Given the description of an element on the screen output the (x, y) to click on. 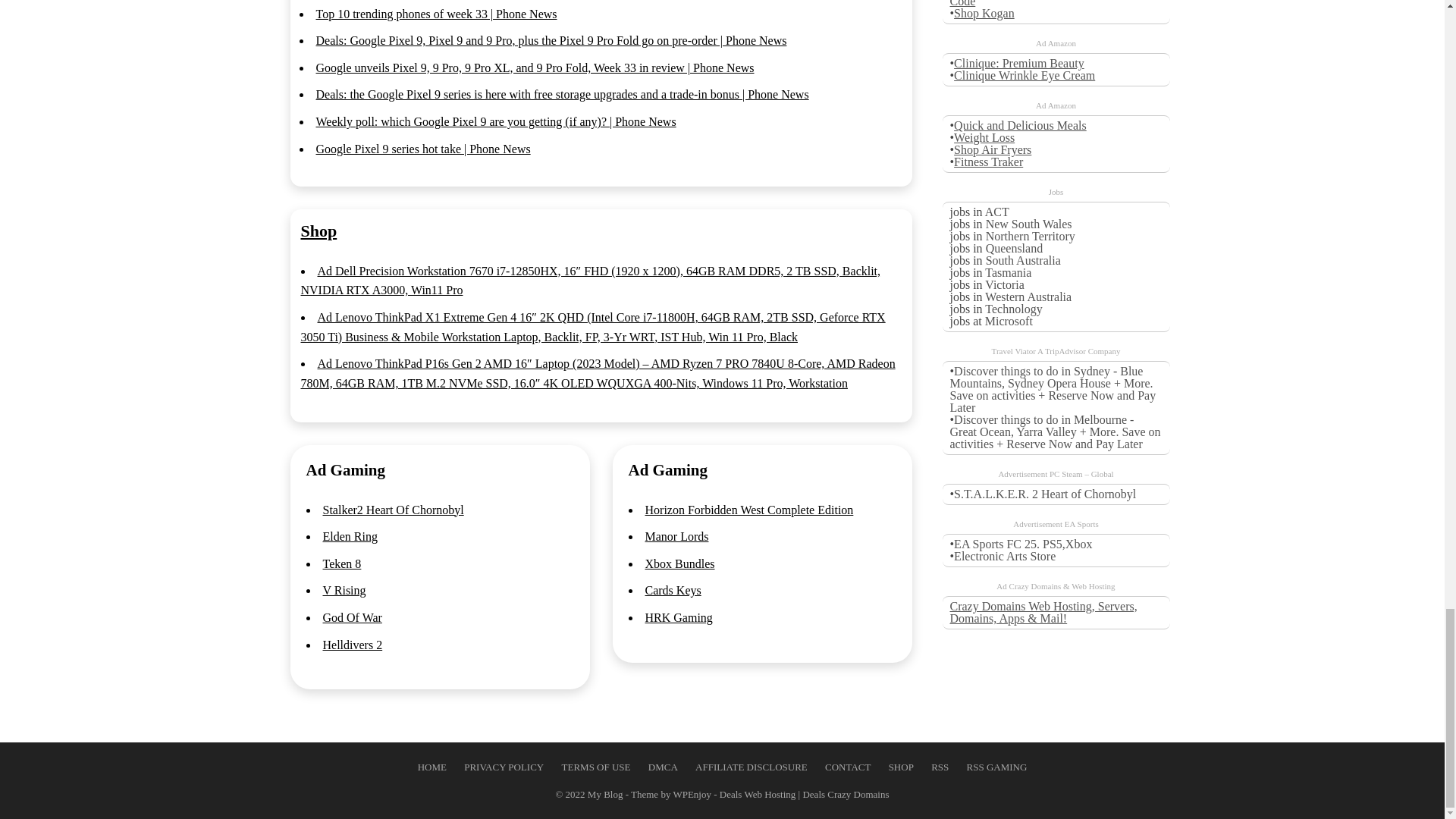
Helldivers 2 (352, 644)
V Rising (344, 590)
Stalker2 Heart Of Chornobyl (393, 509)
HRK Gaming (678, 617)
Manor Lords (676, 535)
Cards Keys (672, 590)
God Of War (352, 617)
Horizon Forbidden West Complete Edition (749, 509)
Elden Ring (350, 535)
Xbox Bundles (679, 563)
